Given the description of an element on the screen output the (x, y) to click on. 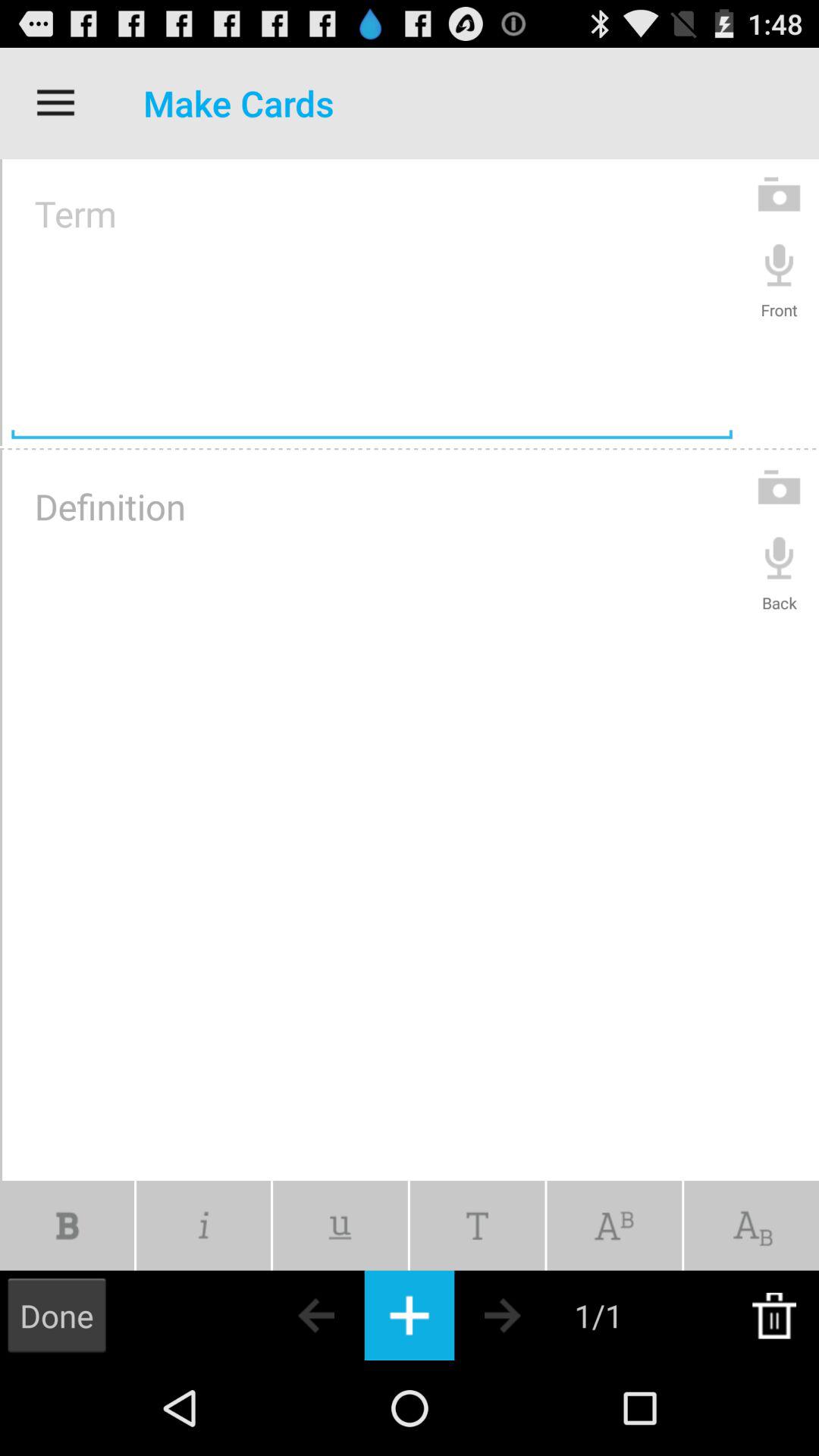
add new card (409, 1315)
